Given the description of an element on the screen output the (x, y) to click on. 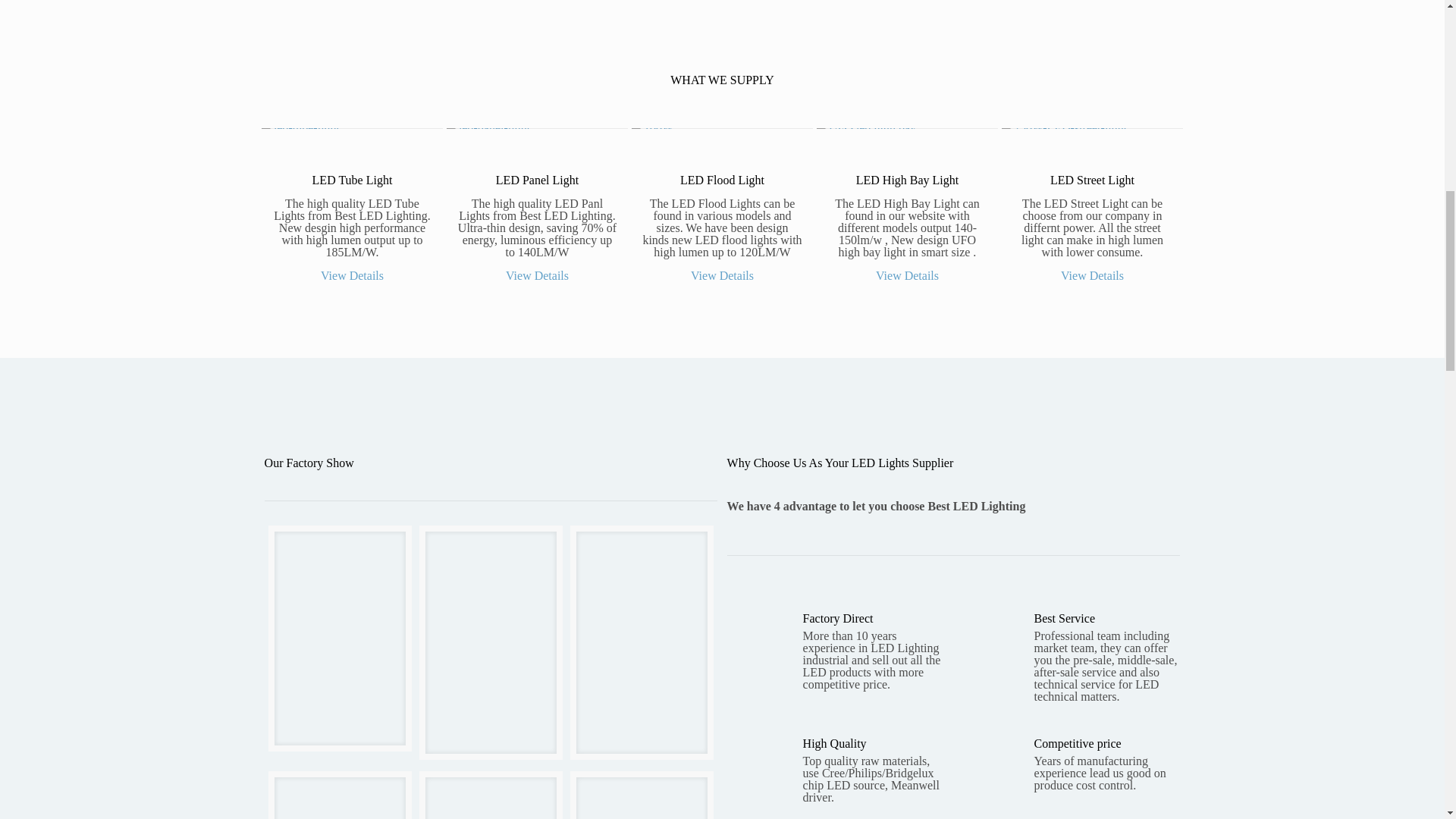
led-panel-light (487, 133)
led-tube-light (300, 133)
100W (651, 133)
View Details (537, 275)
250W-LED-street-light (1063, 133)
View Details (722, 275)
View Details (352, 275)
UFO LED high bay light (865, 133)
